Given the description of an element on the screen output the (x, y) to click on. 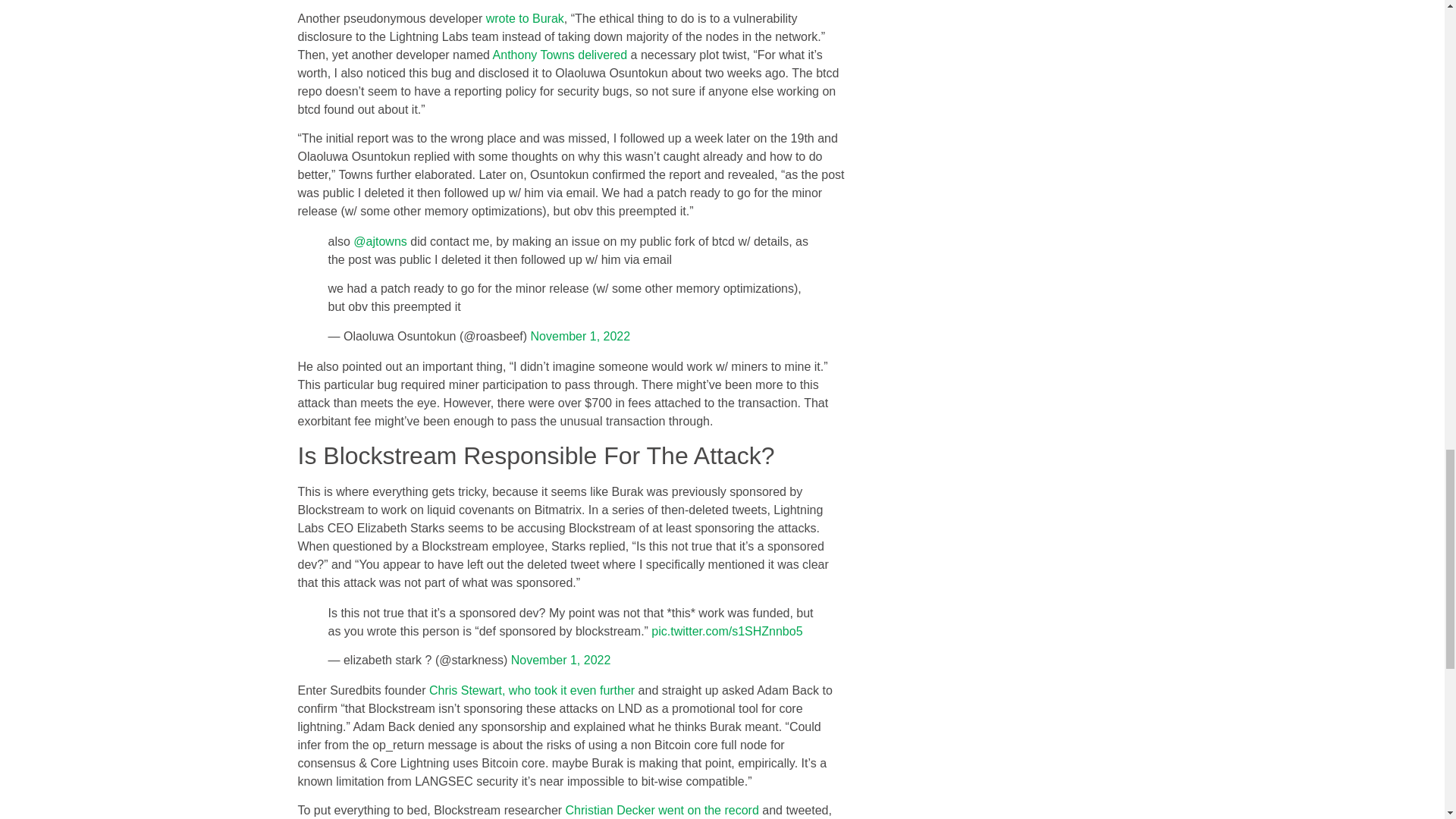
wrote to Burak (525, 18)
Christian Decker went on the record (662, 809)
Chris Stewart, who took it even further (530, 689)
November 1, 2022 (561, 659)
November 1, 2022 (580, 336)
Anthony Towns delivered (560, 54)
